Given the description of an element on the screen output the (x, y) to click on. 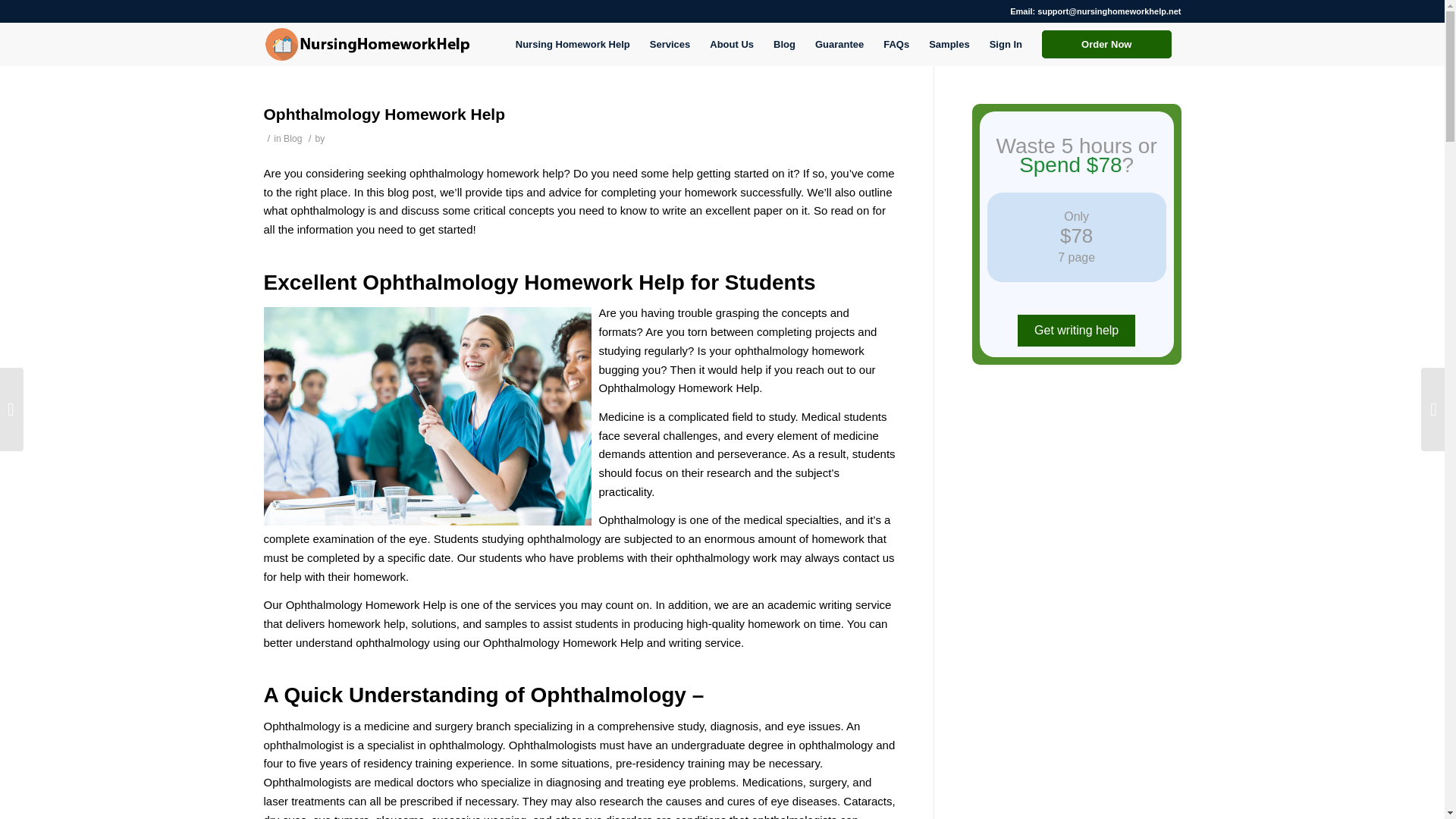
nhhb (367, 44)
Nursing Homework Help (572, 44)
Services (670, 44)
